Given the description of an element on the screen output the (x, y) to click on. 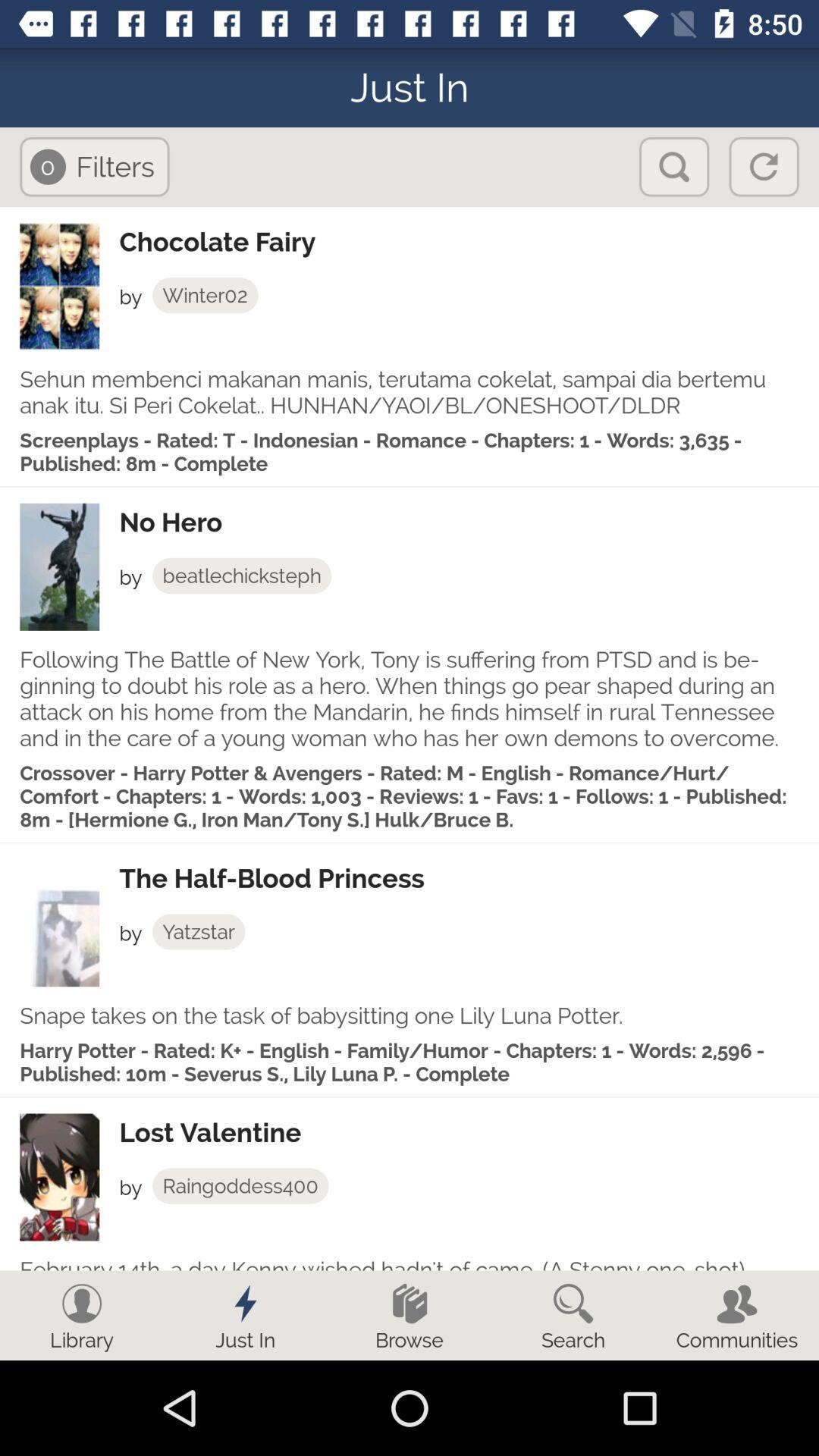
flip to winter02 app (205, 295)
